Given the description of an element on the screen output the (x, y) to click on. 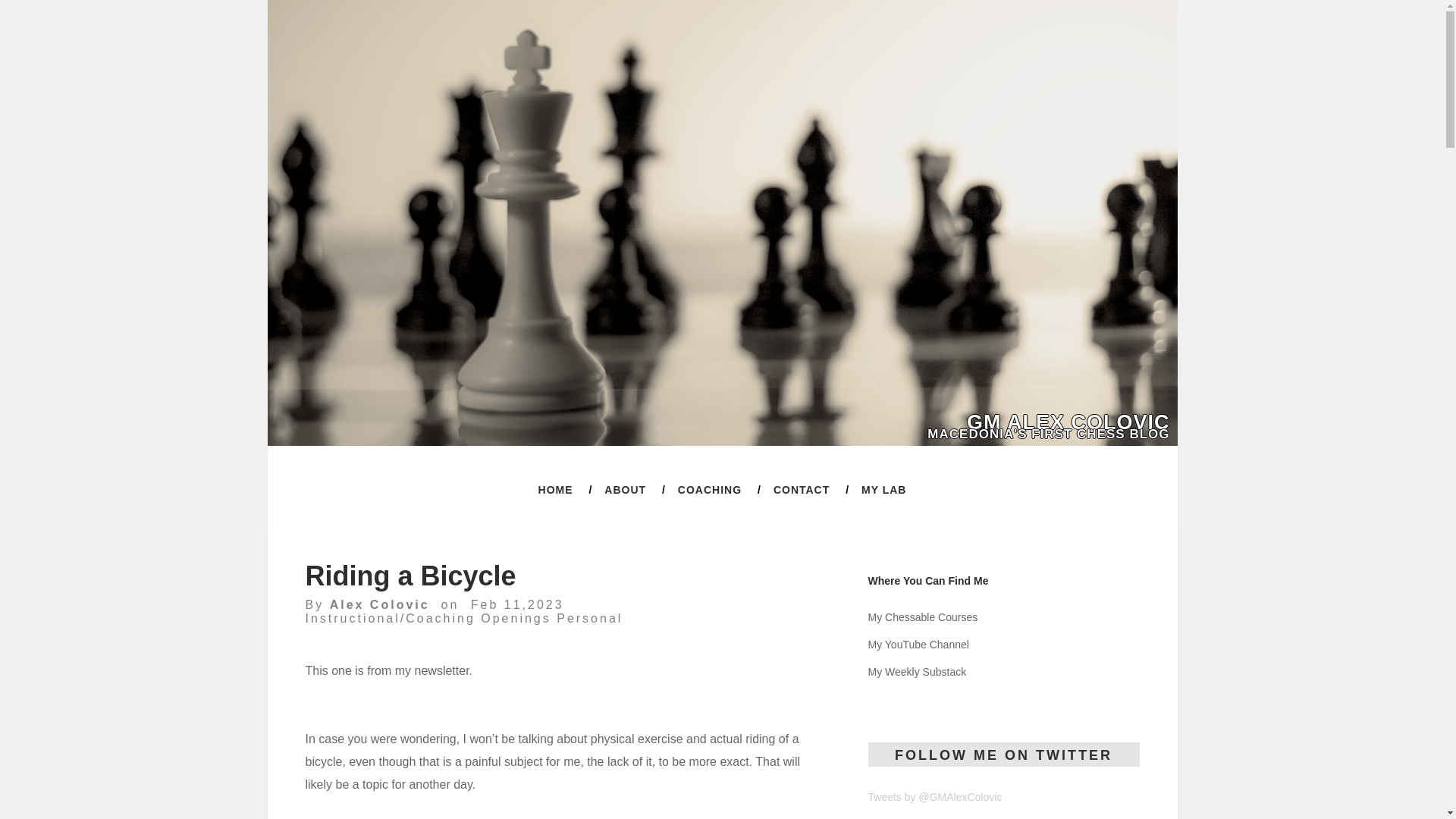
My Chessable Courses (921, 616)
Personal (589, 617)
MY LAB (883, 489)
Openings (515, 617)
ABOUT (625, 489)
CONTACT (801, 489)
My YouTube Channel (917, 644)
HOME (555, 489)
My Weekly Substack (916, 671)
COACHING (709, 489)
